Given the description of an element on the screen output the (x, y) to click on. 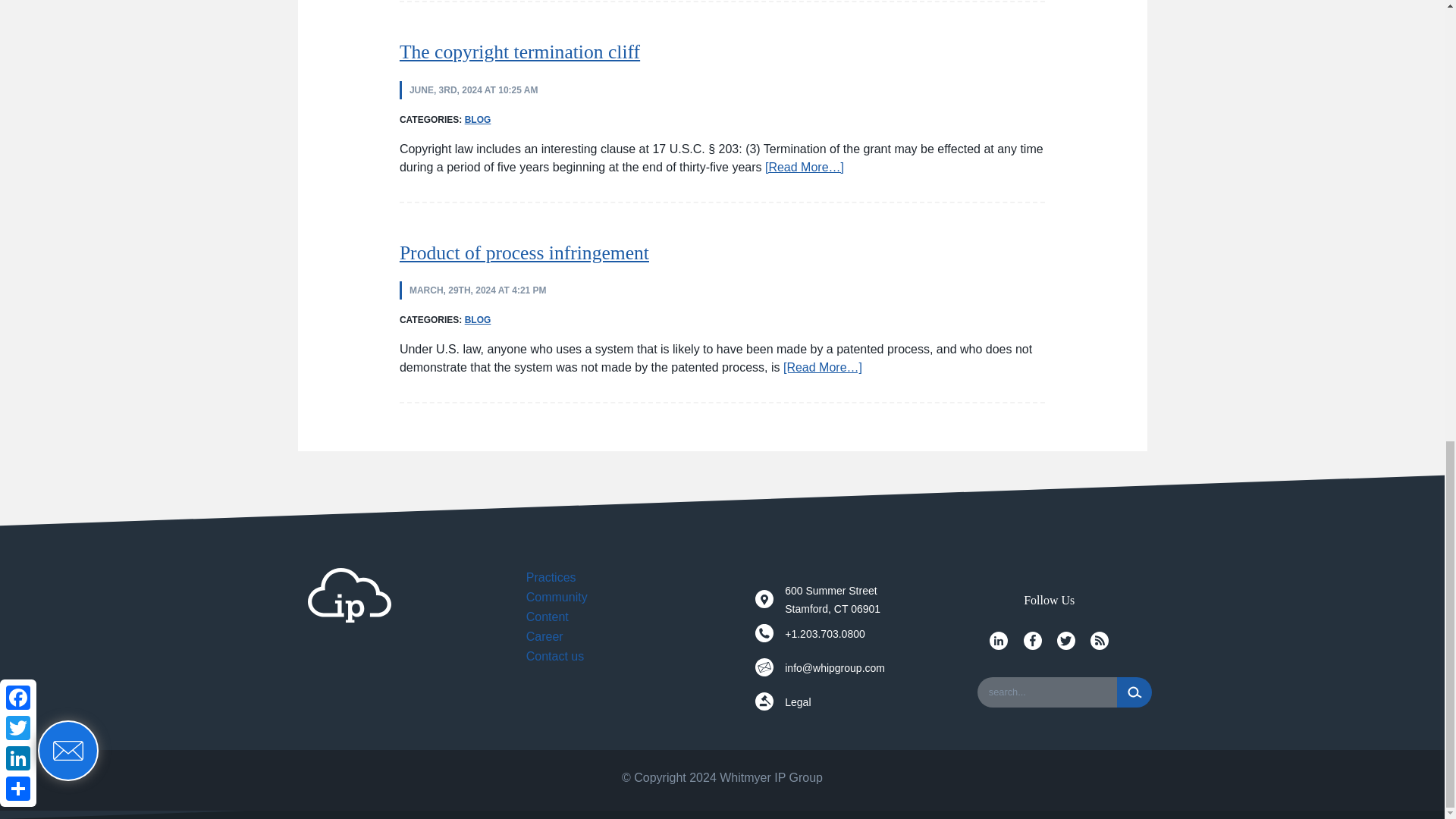
LinkedIn Profile Link (998, 640)
Google Map Link (764, 599)
Facebook (1032, 640)
RSS Link (1099, 640)
Twitter (1066, 640)
